Given the description of an element on the screen output the (x, y) to click on. 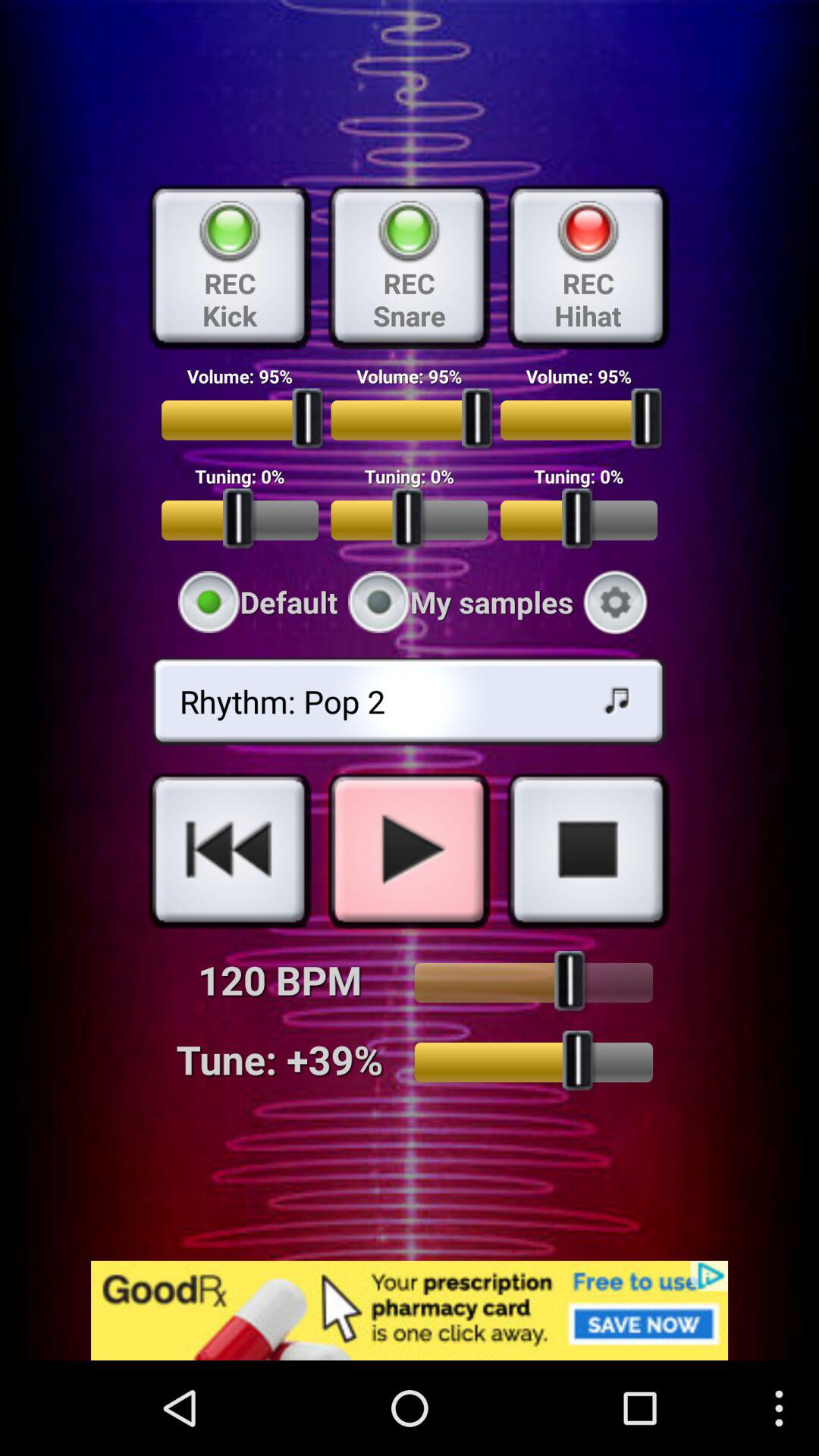
stop music (587, 850)
